Given the description of an element on the screen output the (x, y) to click on. 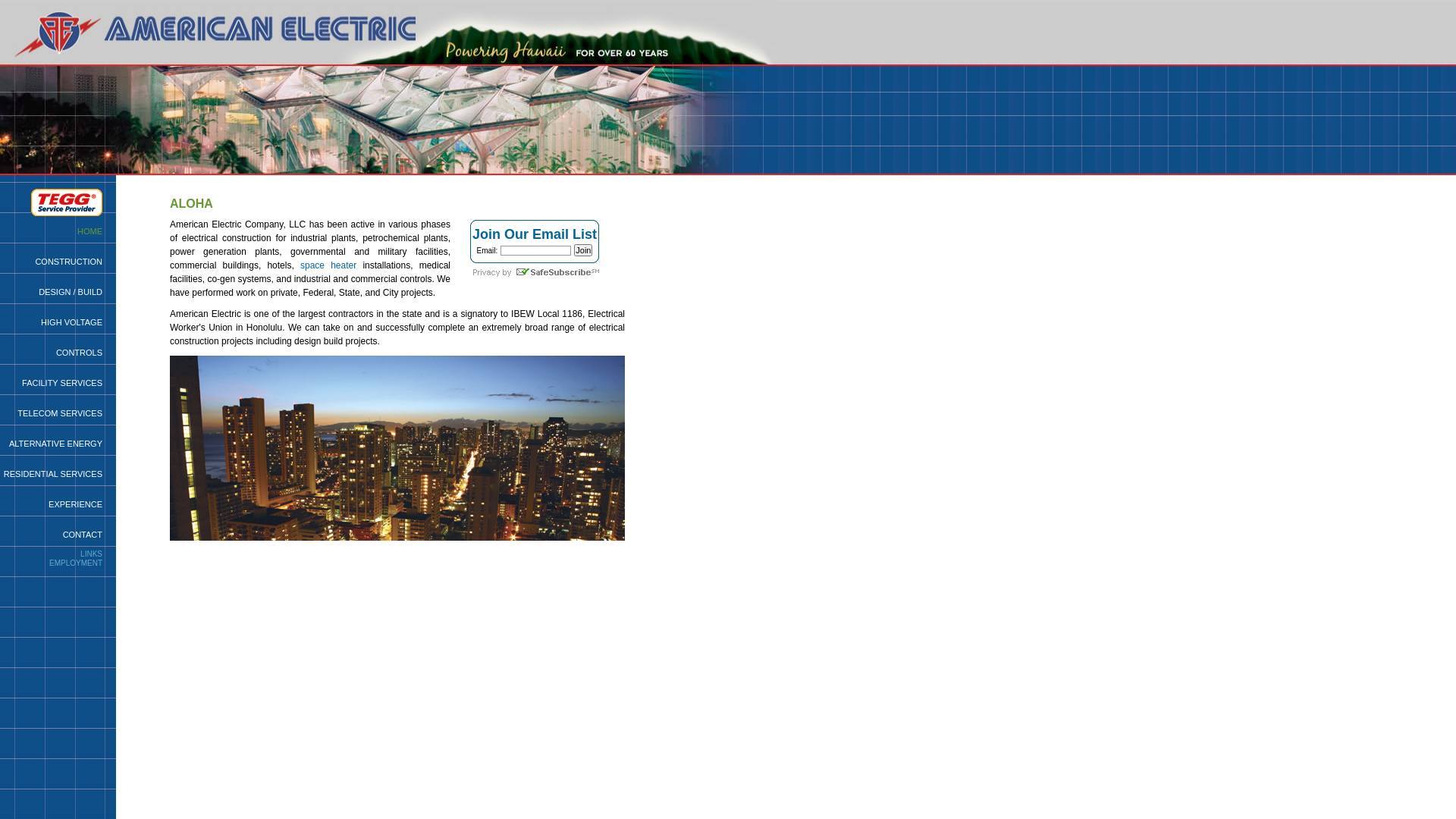
CONTACT Element type: text (82, 534)
RESIDENTIAL SERVICES Element type: text (52, 473)
Join Element type: text (583, 250)
DESIGN / BUILD Element type: text (70, 291)
EMPLOYMENT Element type: text (75, 562)
LINKS Element type: text (91, 553)
HIGH VOLTAGE Element type: text (71, 321)
space heater Element type: text (328, 265)
EXPERIENCE Element type: text (75, 503)
CONSTRUCTION Element type: text (68, 261)
CONTROLS Element type: text (79, 352)
HOME Element type: text (89, 230)
ALTERNATIVE ENERGY Element type: text (55, 443)
FACILITY SERVICES Element type: text (61, 382)
TELECOM SERVICES Element type: text (59, 412)
